Given the description of an element on the screen output the (x, y) to click on. 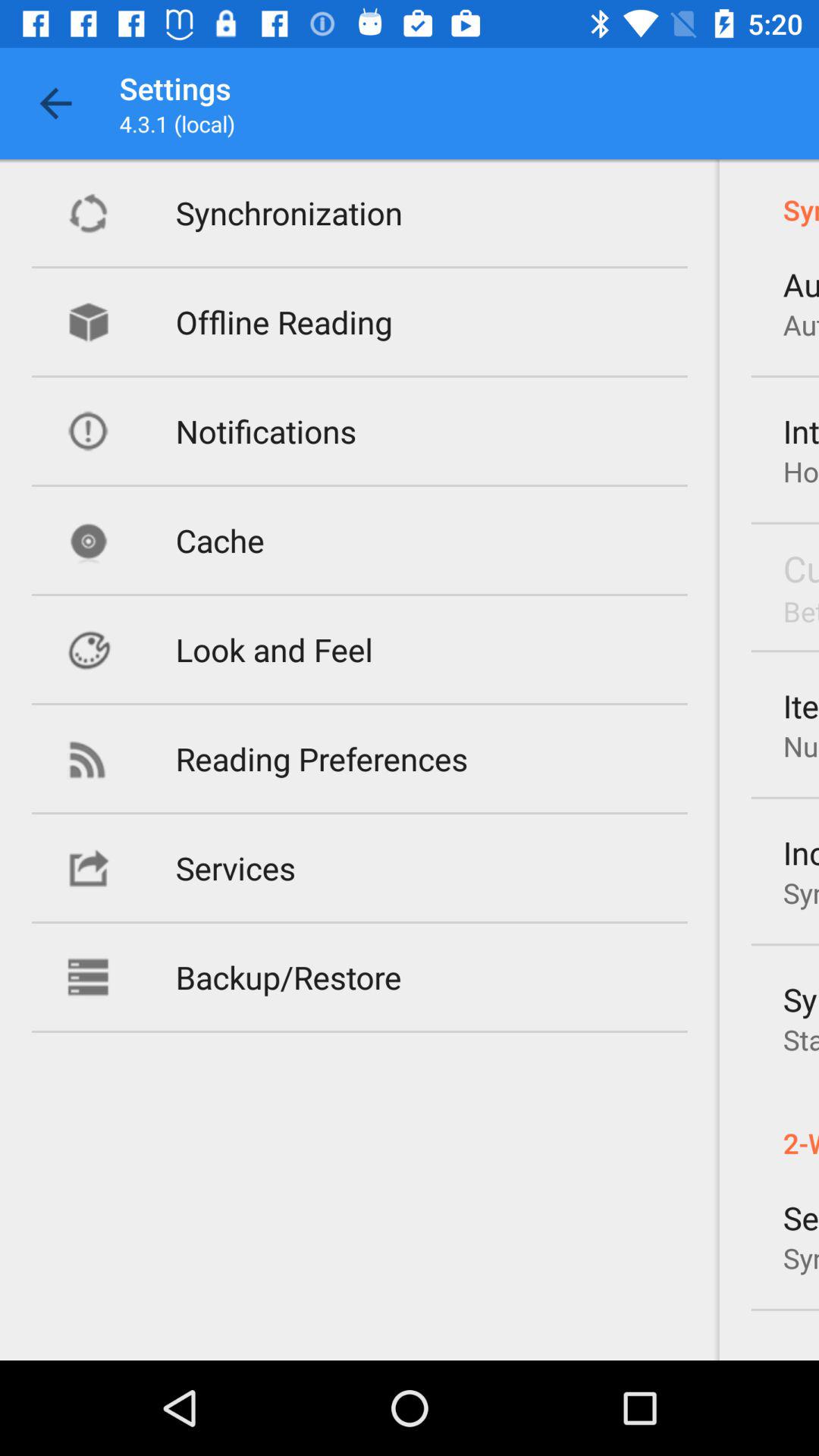
click item above the notifications icon (283, 321)
